Given the description of an element on the screen output the (x, y) to click on. 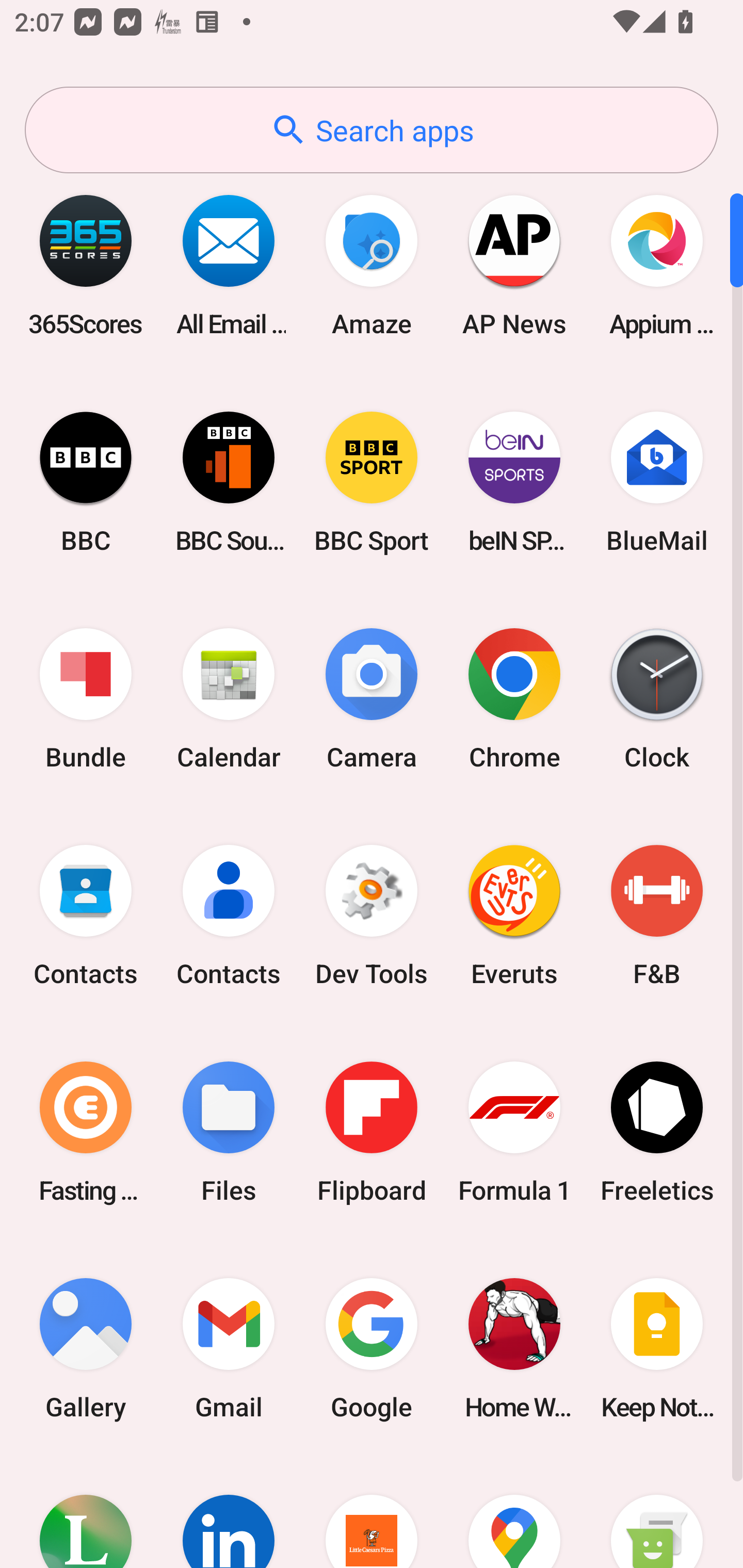
  Search apps (371, 130)
365Scores (85, 264)
All Email Connect (228, 264)
Amaze (371, 264)
AP News (514, 264)
Appium Settings (656, 264)
BBC (85, 482)
BBC Sounds (228, 482)
BBC Sport (371, 482)
beIN SPORTS (514, 482)
BlueMail (656, 482)
Bundle (85, 699)
Calendar (228, 699)
Camera (371, 699)
Chrome (514, 699)
Clock (656, 699)
Contacts (85, 915)
Contacts (228, 915)
Dev Tools (371, 915)
Everuts (514, 915)
F&B (656, 915)
Fasting Coach (85, 1131)
Files (228, 1131)
Flipboard (371, 1131)
Formula 1 (514, 1131)
Freeletics (656, 1131)
Gallery (85, 1348)
Gmail (228, 1348)
Google (371, 1348)
Home Workout (514, 1348)
Keep Notes (656, 1348)
